Given the description of an element on the screen output the (x, y) to click on. 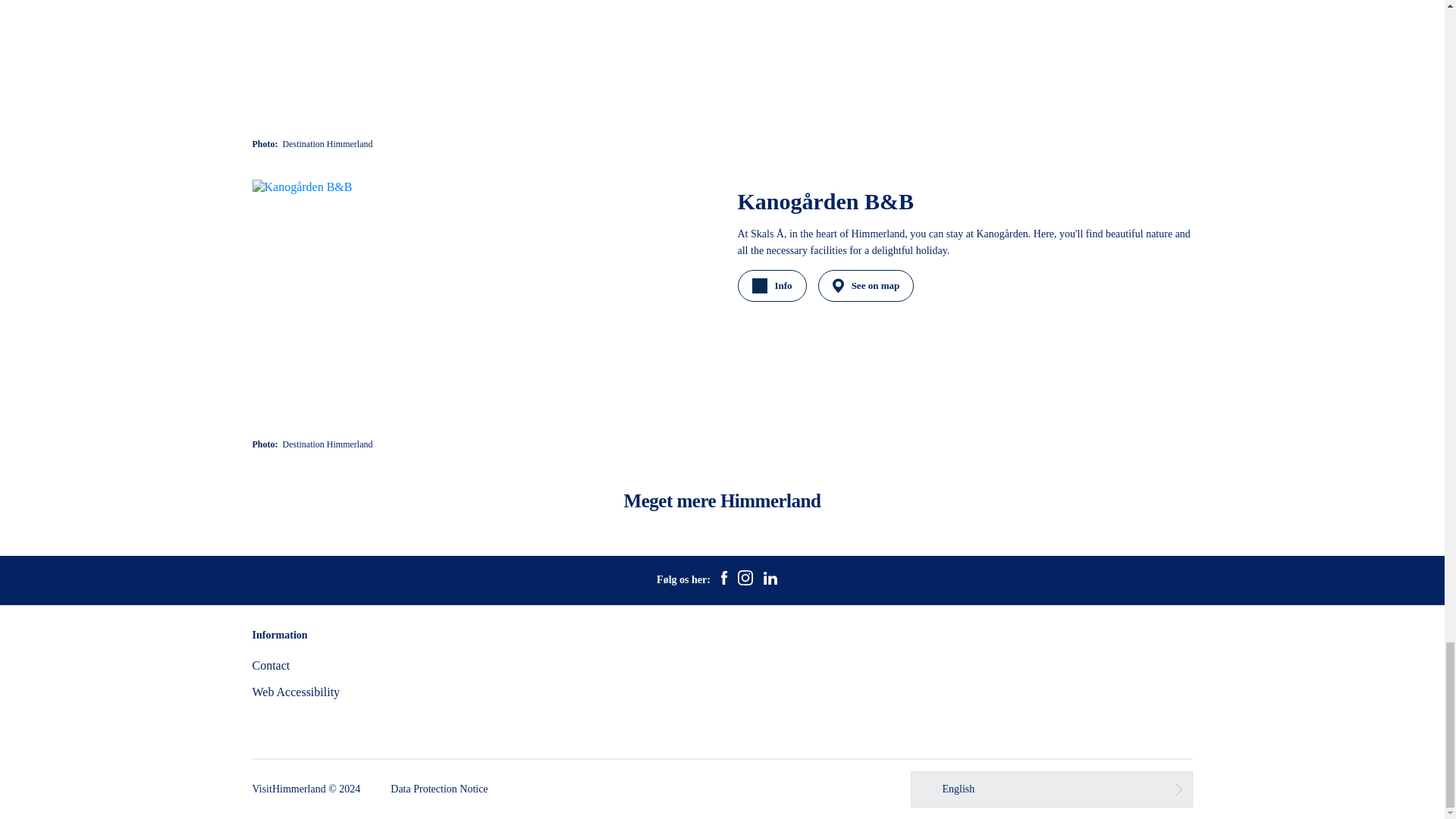
instagram (745, 579)
linkedin (770, 579)
Web Accessibility (295, 691)
Contact (270, 665)
facebook (724, 579)
Data Protection Notice (438, 789)
